Given the description of an element on the screen output the (x, y) to click on. 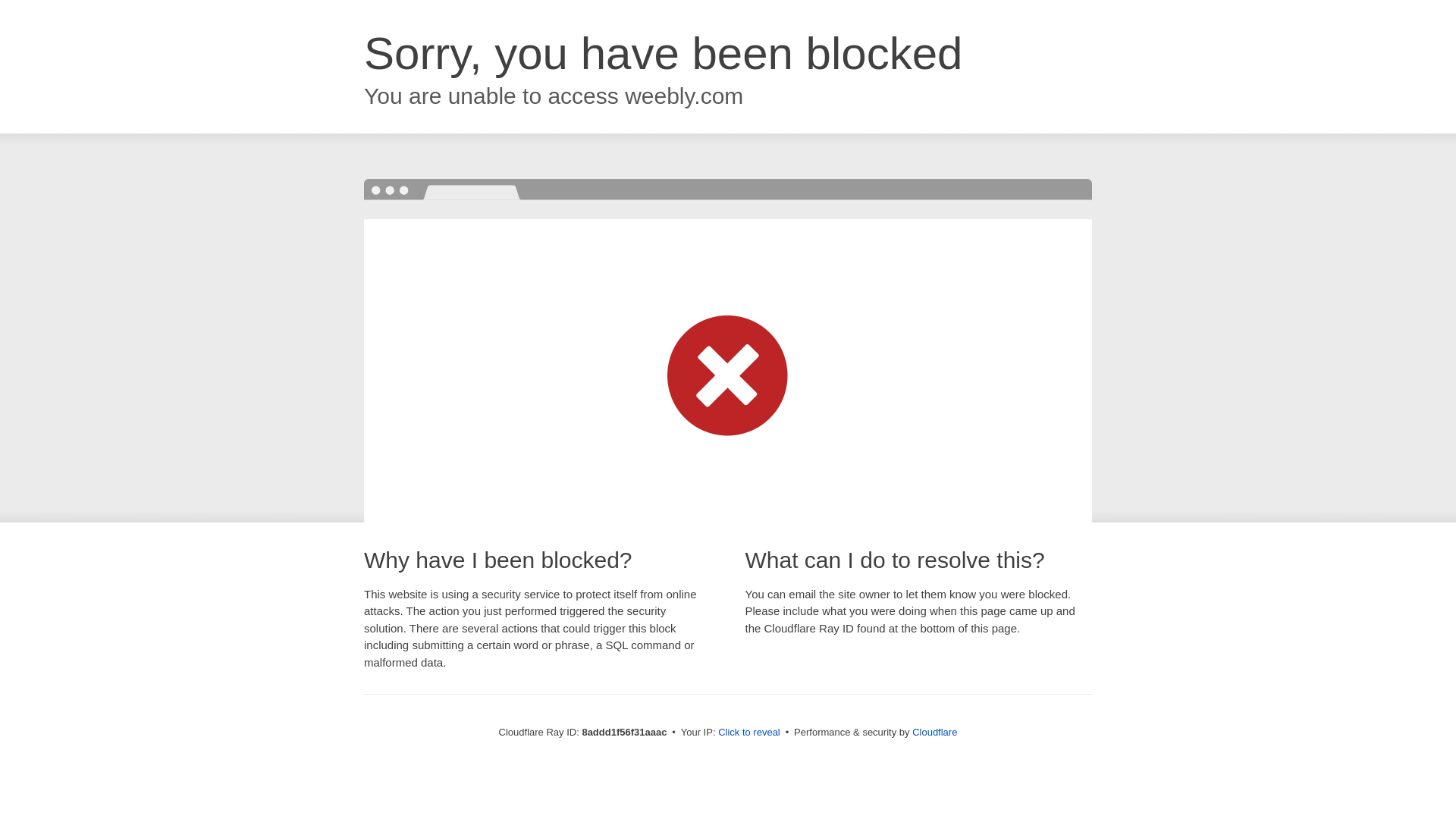
Cloudflare (934, 731)
Click to reveal (748, 732)
